Given the description of an element on the screen output the (x, y) to click on. 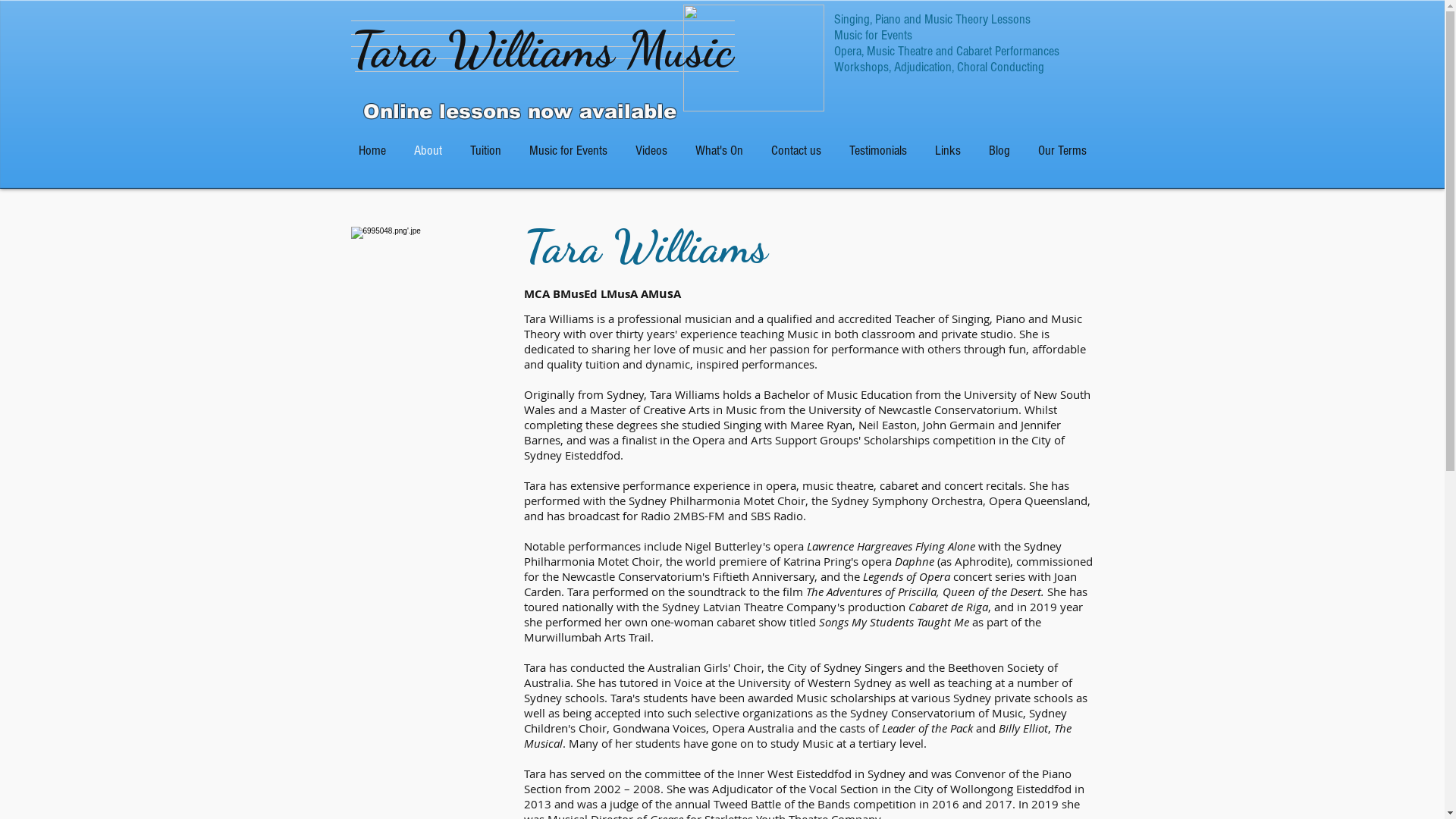
Videos Element type: text (651, 150)
Tara Williams Music Element type: text (541, 48)
Testimonials Element type: text (878, 150)
What's On Element type: text (718, 150)
Our Terms Element type: text (1061, 150)
Contact us Element type: text (795, 150)
Music for Events Element type: text (568, 150)
Home Element type: text (371, 150)
Links Element type: text (947, 150)
Tuition Element type: text (485, 150)
Blog Element type: text (999, 150)
About Element type: text (428, 150)
